Given the description of an element on the screen output the (x, y) to click on. 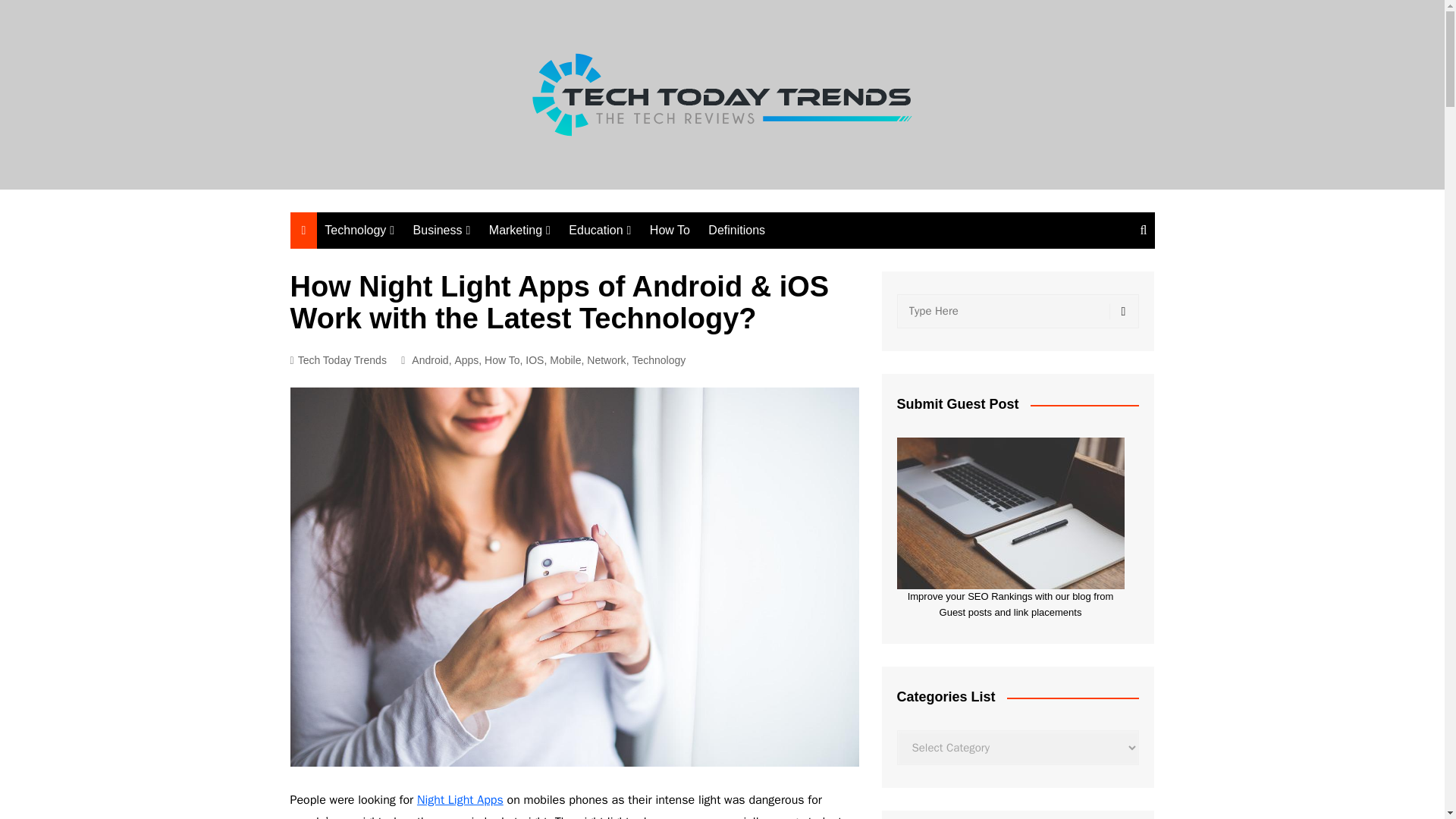
Education (599, 230)
Submit Guest Post (1010, 512)
Tech Today Trends (337, 360)
Technology (359, 230)
Definitions (736, 230)
Software (400, 285)
Network (400, 260)
Life Style (489, 310)
Gadgets (400, 360)
Business (442, 230)
Entertainment (564, 285)
Games (564, 335)
Social Media (564, 260)
How To (669, 230)
Finance (489, 260)
